Given the description of an element on the screen output the (x, y) to click on. 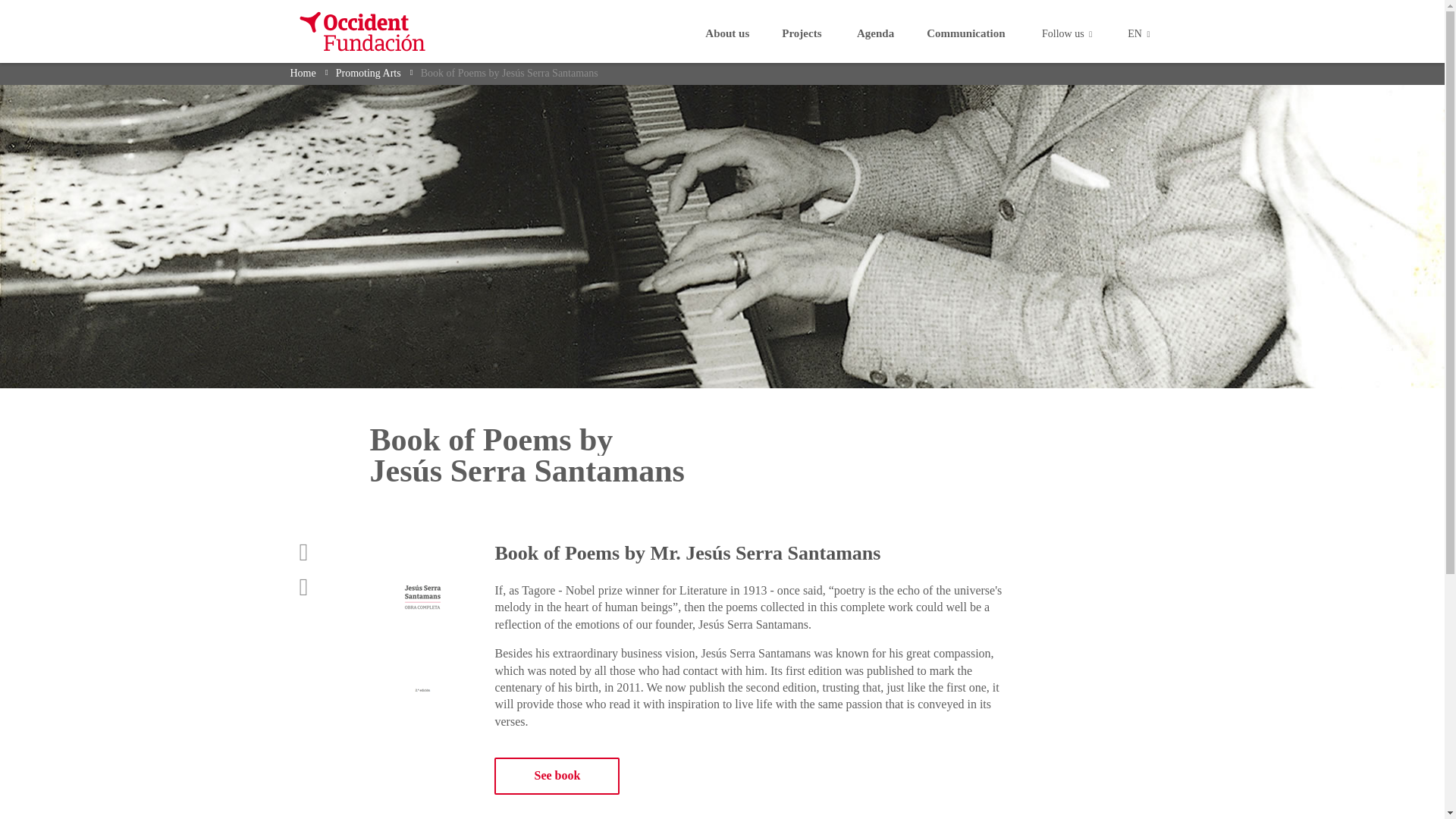
See book (557, 775)
Follow us (1066, 33)
Projects (801, 33)
Communication (965, 33)
About us (726, 33)
EN (1138, 33)
Agenda (874, 33)
